Given the description of an element on the screen output the (x, y) to click on. 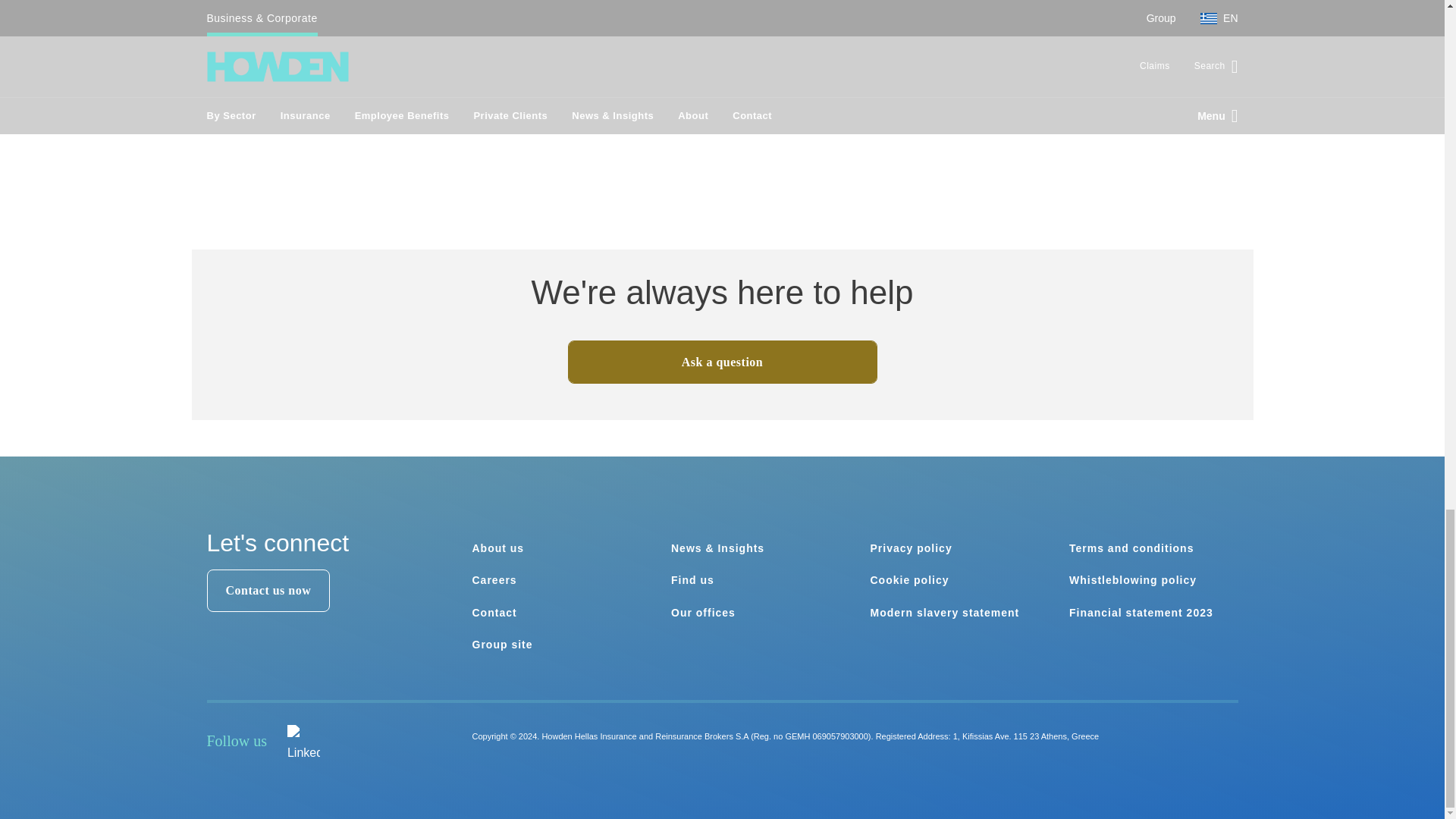
Privacy policy (911, 548)
Find us (692, 580)
Financial statement 2023 (1140, 612)
Group site (501, 644)
Terms and conditions (1130, 548)
Careers (493, 580)
Cookie policy (909, 580)
Our offices (703, 612)
Contact (493, 612)
About us (497, 548)
